Given the description of an element on the screen output the (x, y) to click on. 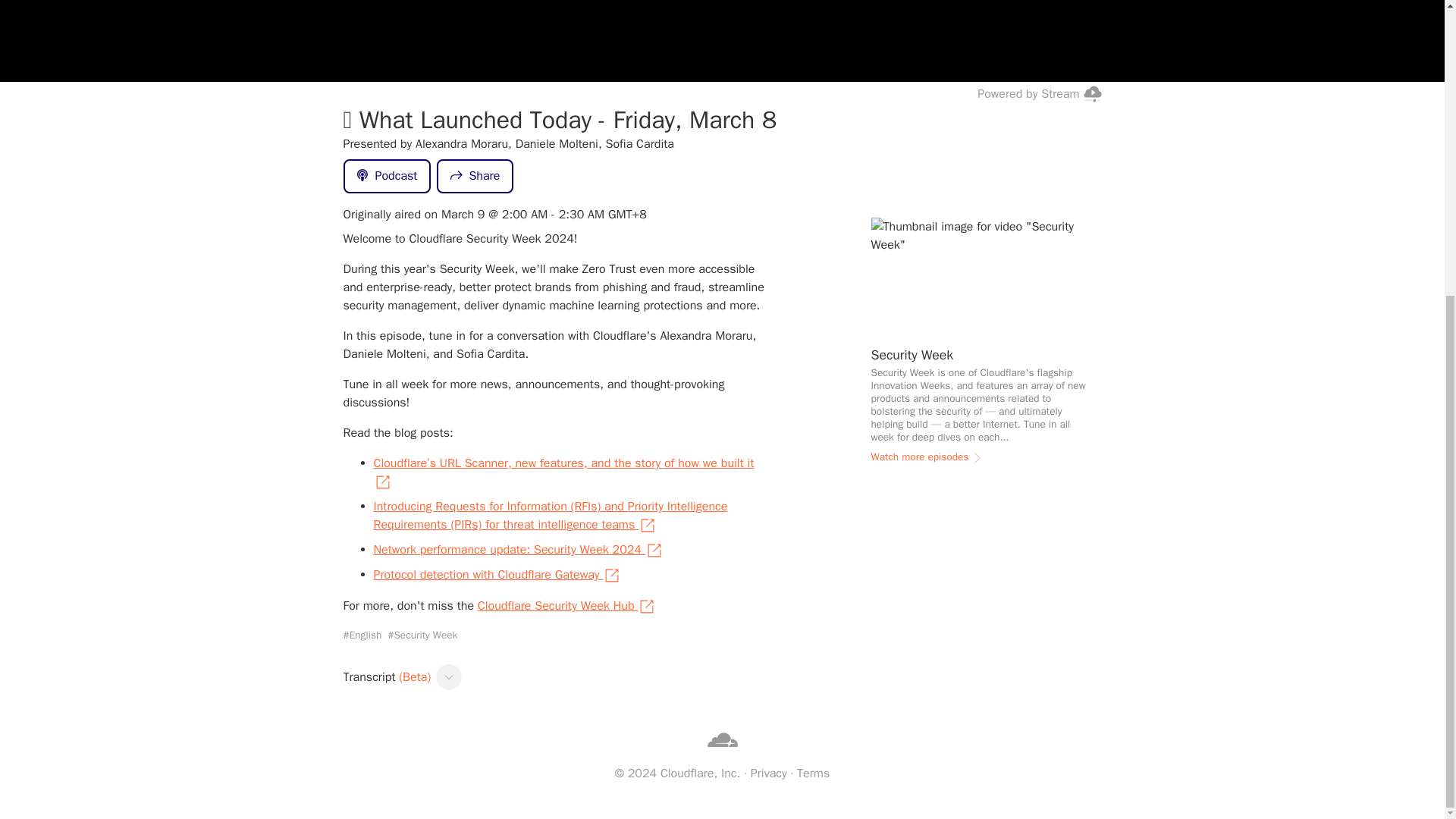
Cloudflare Security Week Hub (566, 605)
Powered by Stream (1038, 92)
Podcast (386, 176)
Terms (812, 773)
Privacy (769, 773)
Protocol detection with Cloudflare Gateway (496, 574)
Network performance update: Security Week 2024 (517, 549)
Share (474, 176)
